Given the description of an element on the screen output the (x, y) to click on. 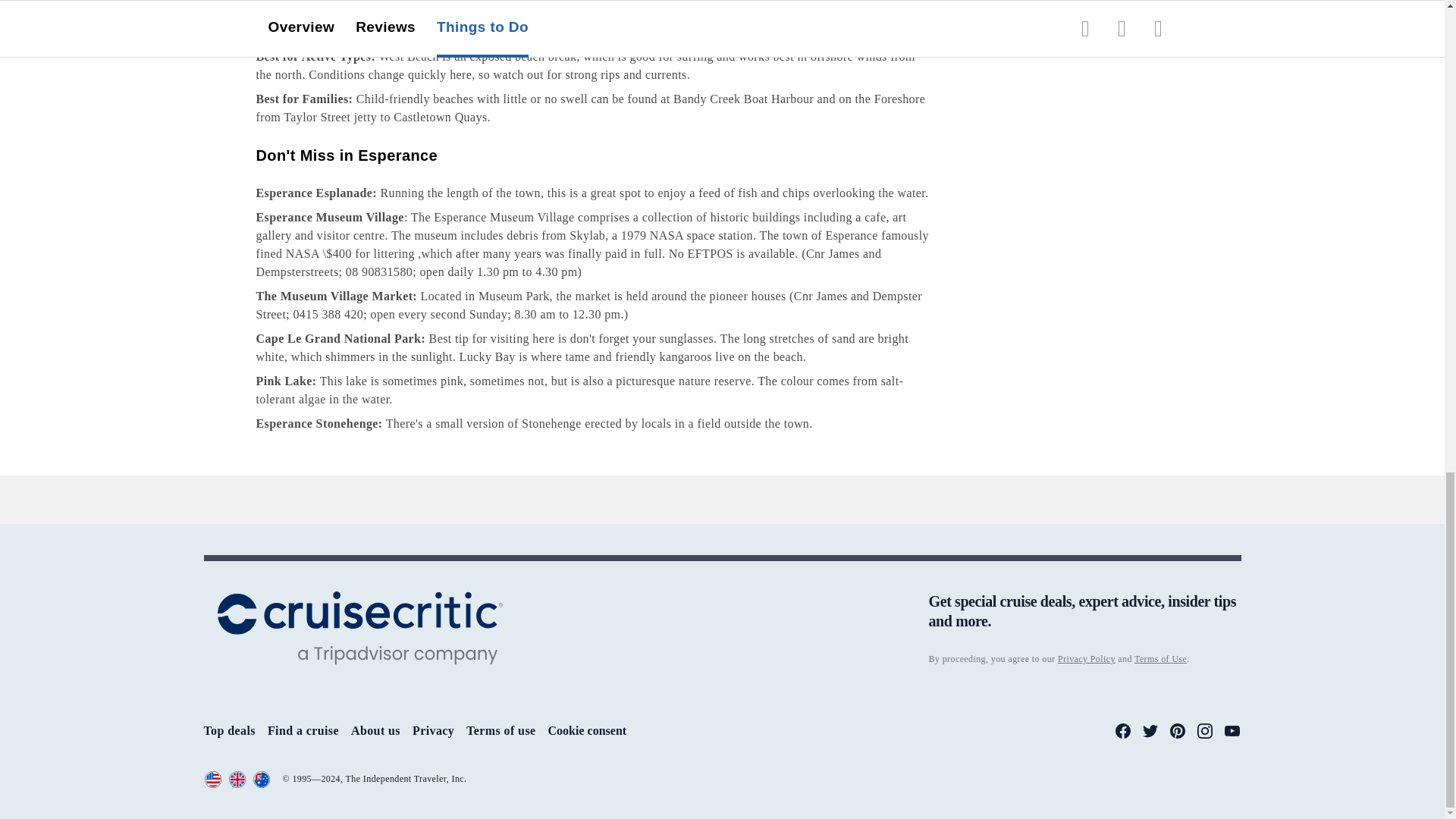
About us (375, 730)
Top deals (228, 730)
Find a cruise (303, 730)
Cookie consent (587, 730)
Terms of Use (1160, 658)
Privacy (433, 730)
Privacy Policy (1086, 658)
Terms of use (500, 730)
